Given the description of an element on the screen output the (x, y) to click on. 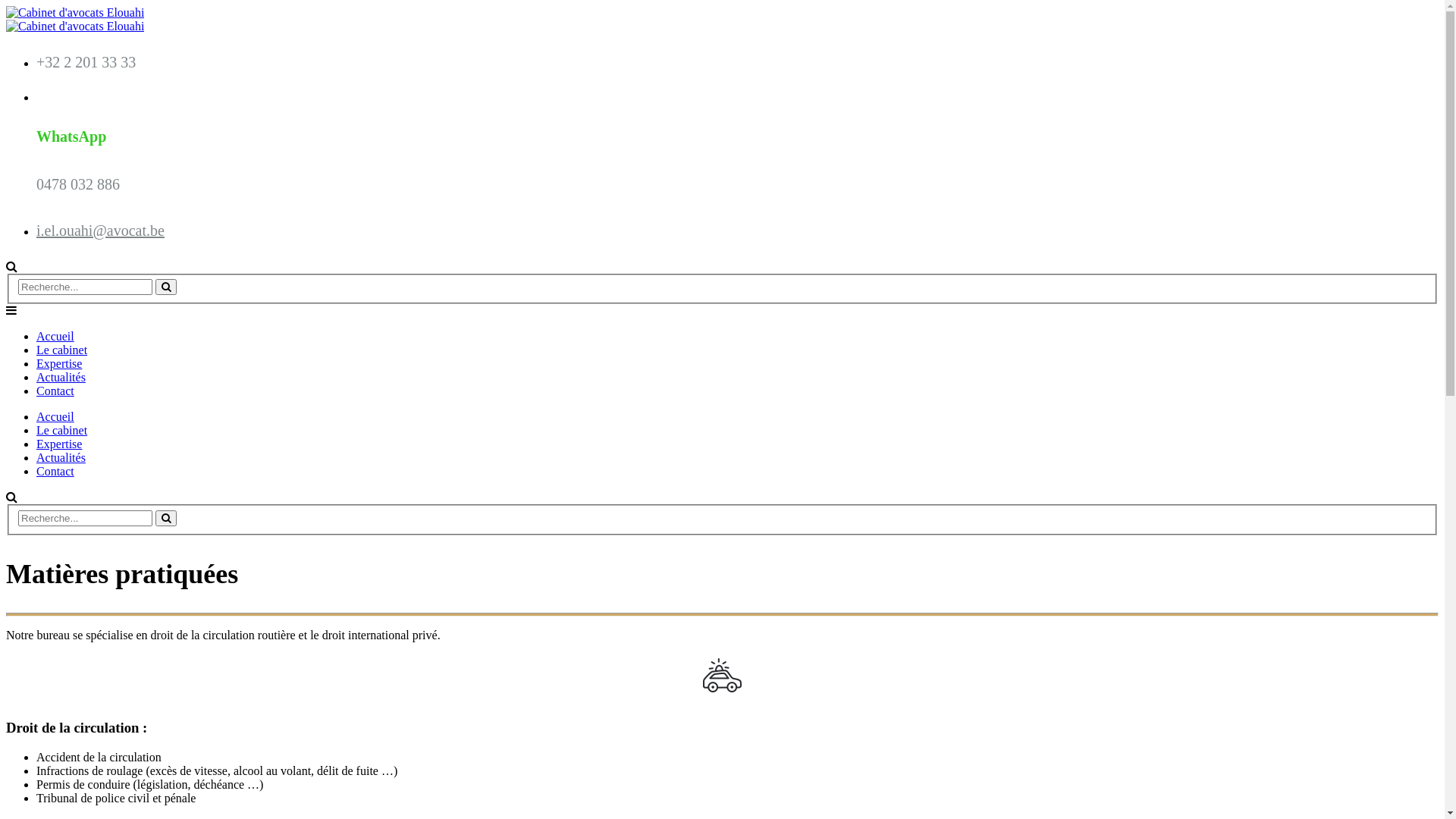
Le cabinet Element type: text (61, 429)
Le cabinet Element type: text (61, 349)
Expertise Element type: text (58, 443)
i.el.ouahi@avocat.be Element type: text (100, 230)
Chercher Element type: hover (165, 518)
Chercher Element type: hover (165, 286)
Expertise Element type: text (58, 363)
Accueil Element type: text (55, 335)
Accueil Element type: text (55, 416)
Contact Element type: text (55, 390)
Contact Element type: text (55, 470)
